Given the description of an element on the screen output the (x, y) to click on. 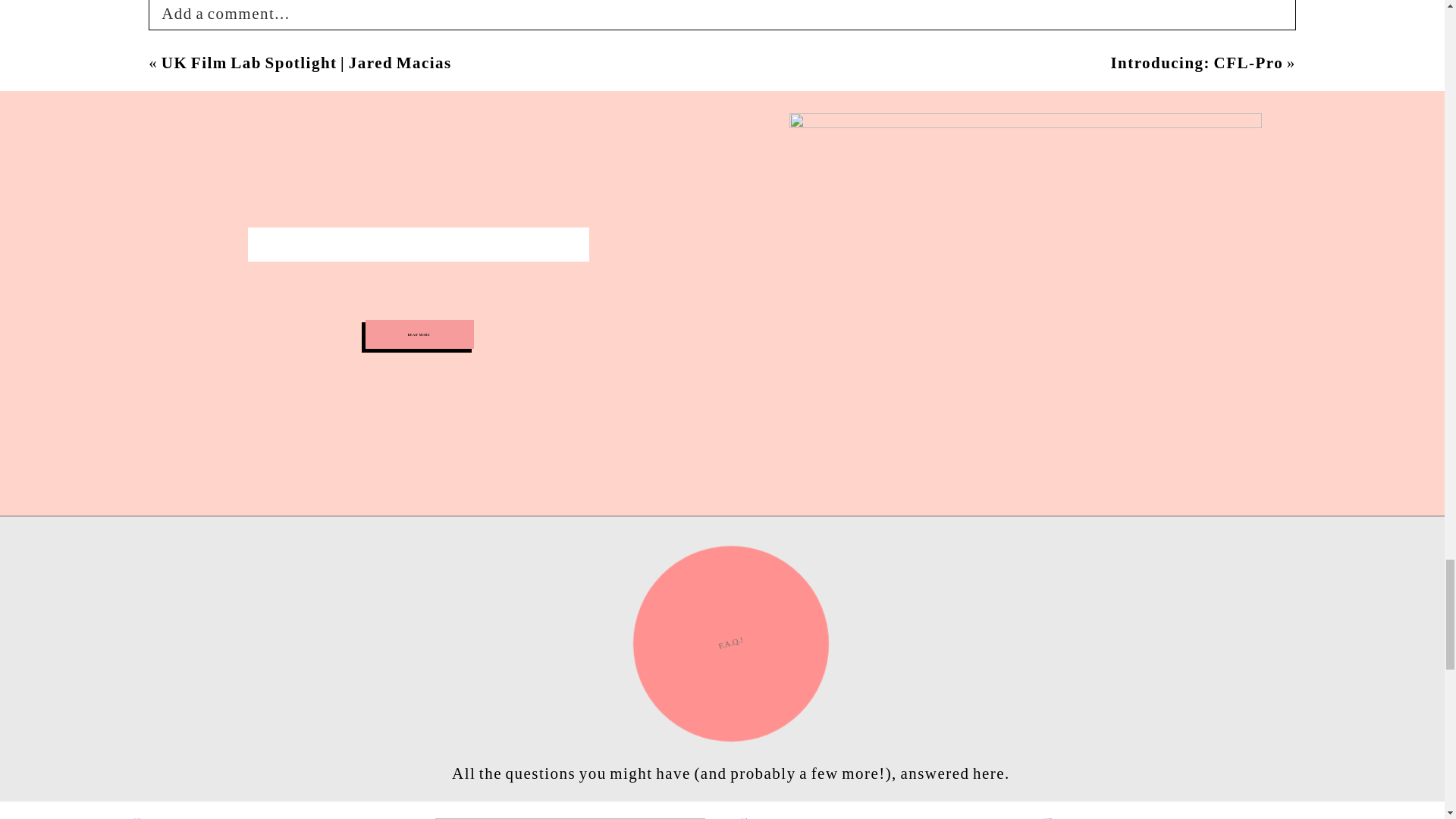
Introducing: CFL-Pro (1195, 63)
READ MORE (418, 334)
F.A.Q.! (730, 643)
